Given the description of an element on the screen output the (x, y) to click on. 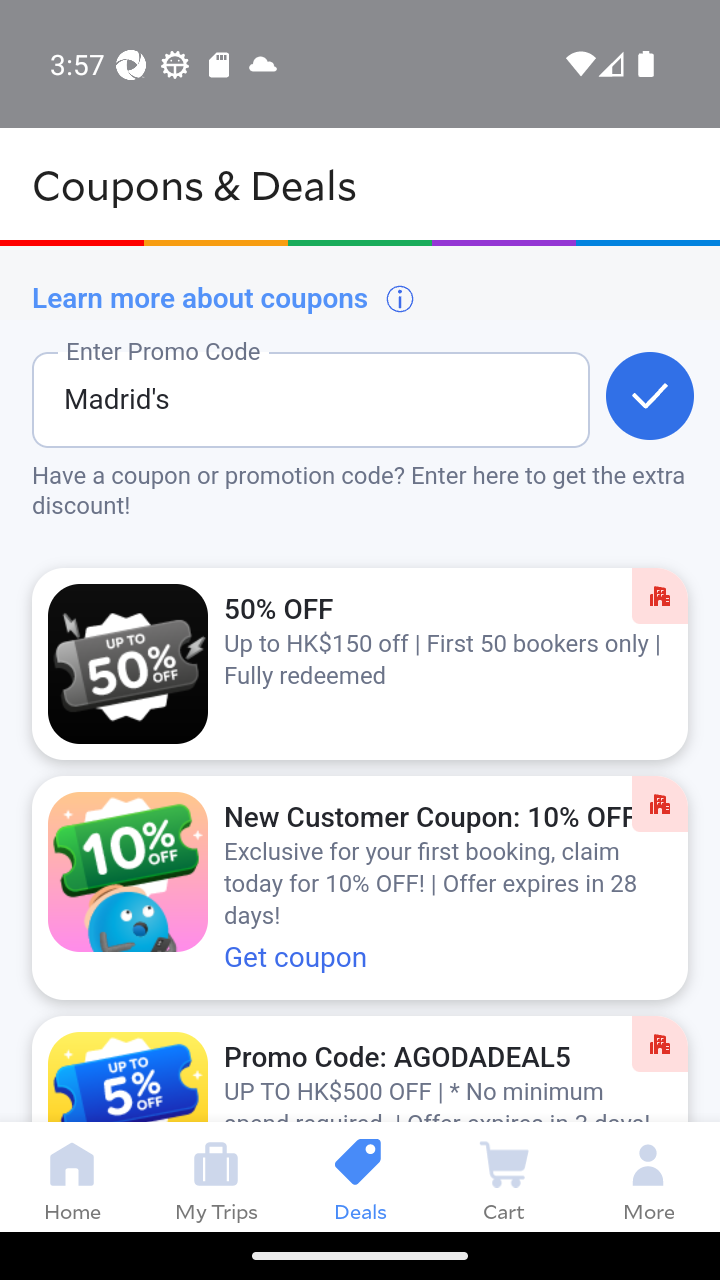
Learn more about coupons (224, 298)
Madrid's  (278, 415)
Home (72, 1176)
My Trips (216, 1176)
Deals (360, 1176)
Cart (504, 1176)
More (648, 1176)
